Given the description of an element on the screen output the (x, y) to click on. 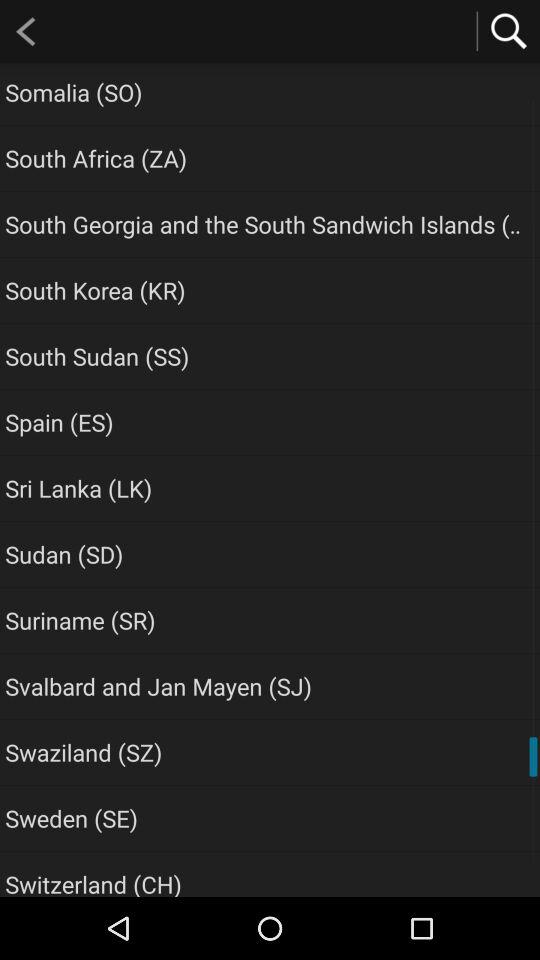
flip to south georgia and app (265, 224)
